Given the description of an element on the screen output the (x, y) to click on. 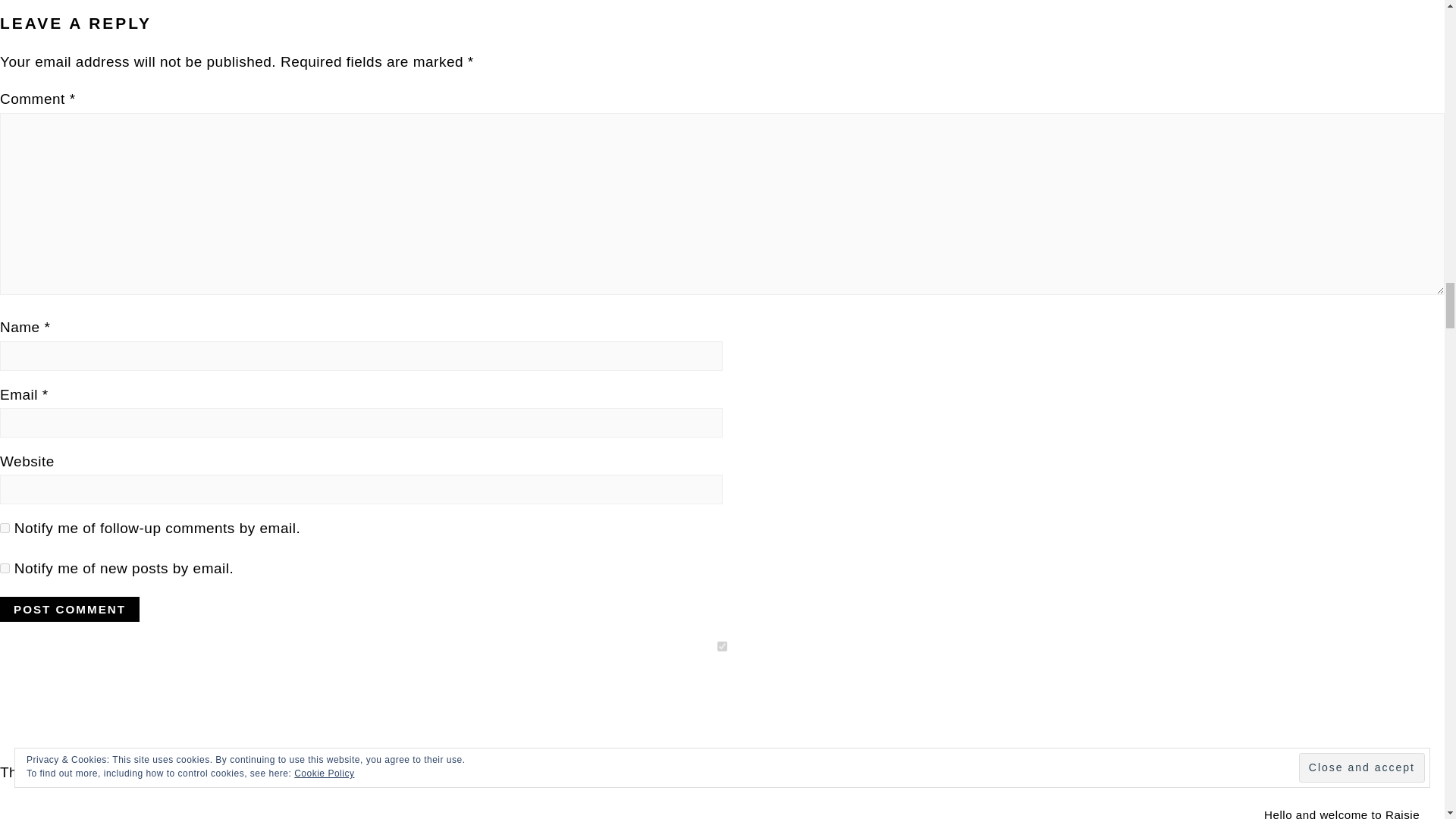
subscribe (5, 568)
Post Comment (69, 609)
subscribe (5, 528)
Show more posts (151, 692)
CommentLuv is enabled (70, 690)
